Given the description of an element on the screen output the (x, y) to click on. 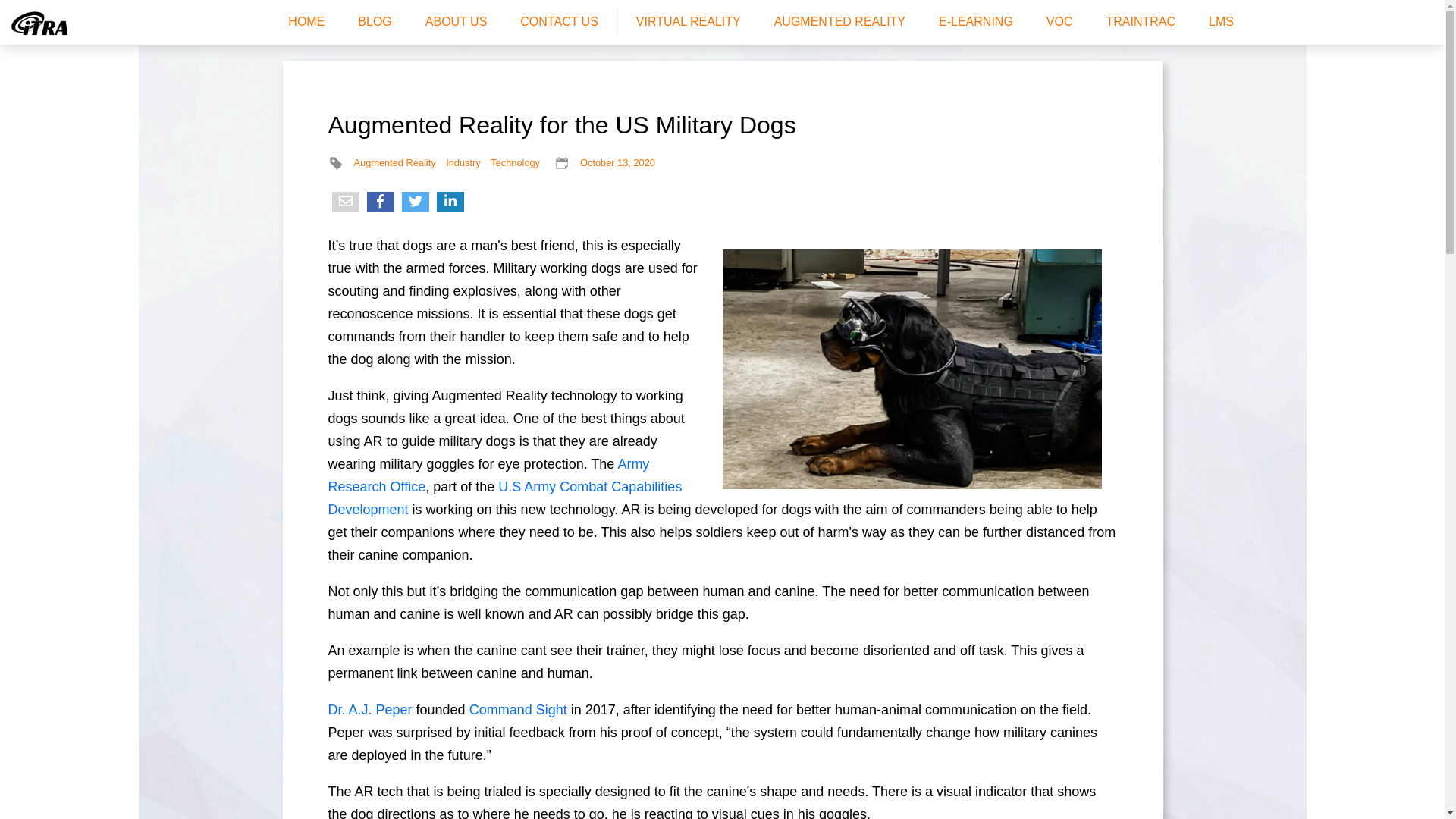
Army Research Office Element type: text (488, 475)
HOME Element type: text (306, 21)
E-LEARNING Element type: text (975, 21)
U.S Army Combat Capabilities Development Element type: text (504, 498)
VIRTUAL REALITY Element type: text (688, 21)
LMS Element type: text (1220, 21)
Dr. A.J. Peper Element type: text (371, 709)
TRAINTRAC Element type: text (1140, 21)
Technology Element type: text (514, 162)
VOC Element type: text (1059, 21)
Industry Element type: text (462, 162)
CONTACT US Element type: text (559, 21)
ABOUT US Element type: text (456, 21)
Command Sight Element type: text (518, 709)
AUGMENTED REALITY Element type: text (839, 21)
BLOG Element type: text (374, 21)
Augmented Reality Element type: text (394, 162)
